Given the description of an element on the screen output the (x, y) to click on. 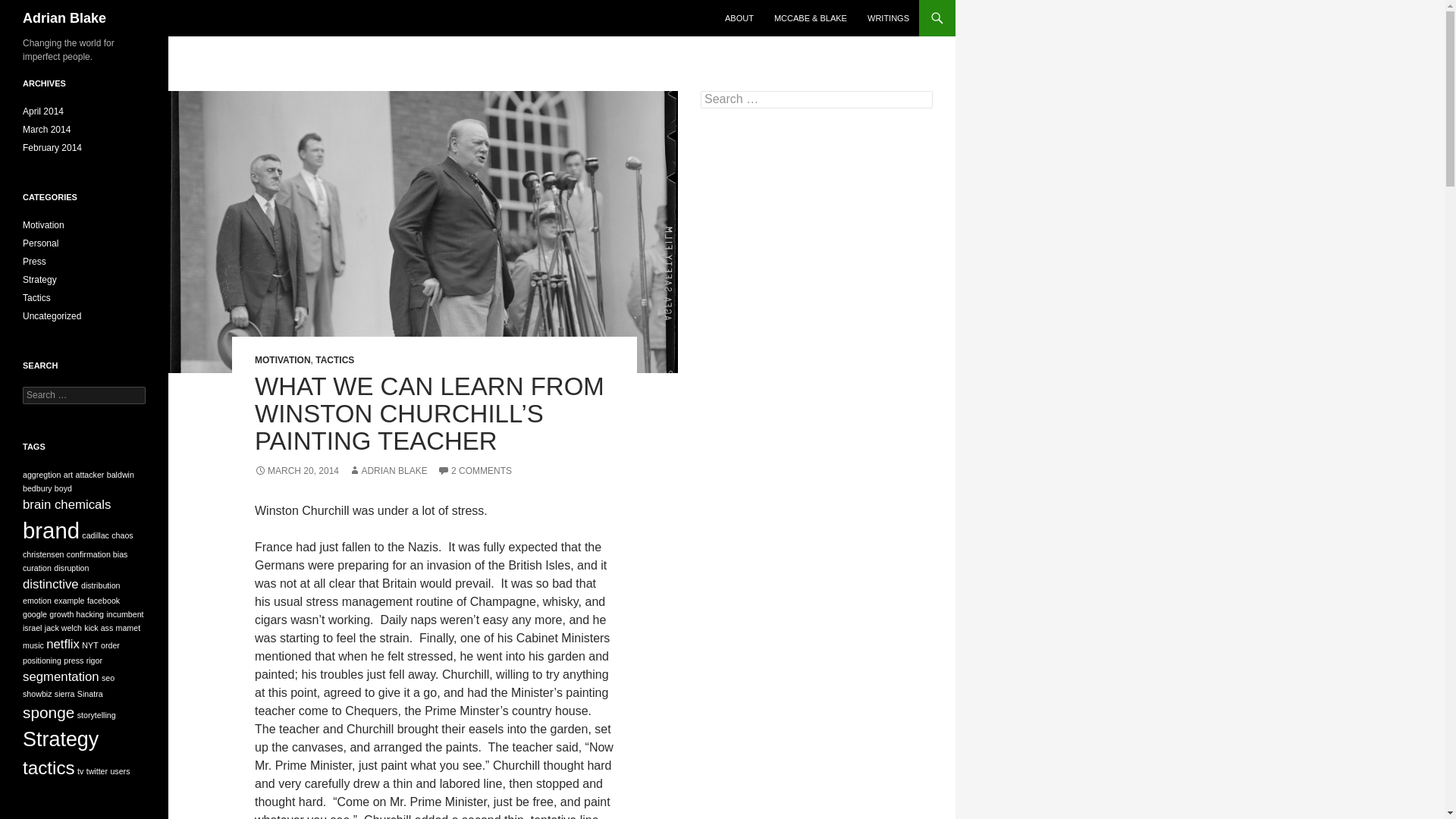
ADRIAN BLAKE (387, 470)
Blog Posts about Strategy. (39, 279)
MOTIVATION (282, 359)
ABOUT (739, 18)
Adrian Blake (64, 18)
2 COMMENTS (475, 470)
MARCH 20, 2014 (296, 470)
TACTICS (334, 359)
WRITINGS (888, 18)
